Given the description of an element on the screen output the (x, y) to click on. 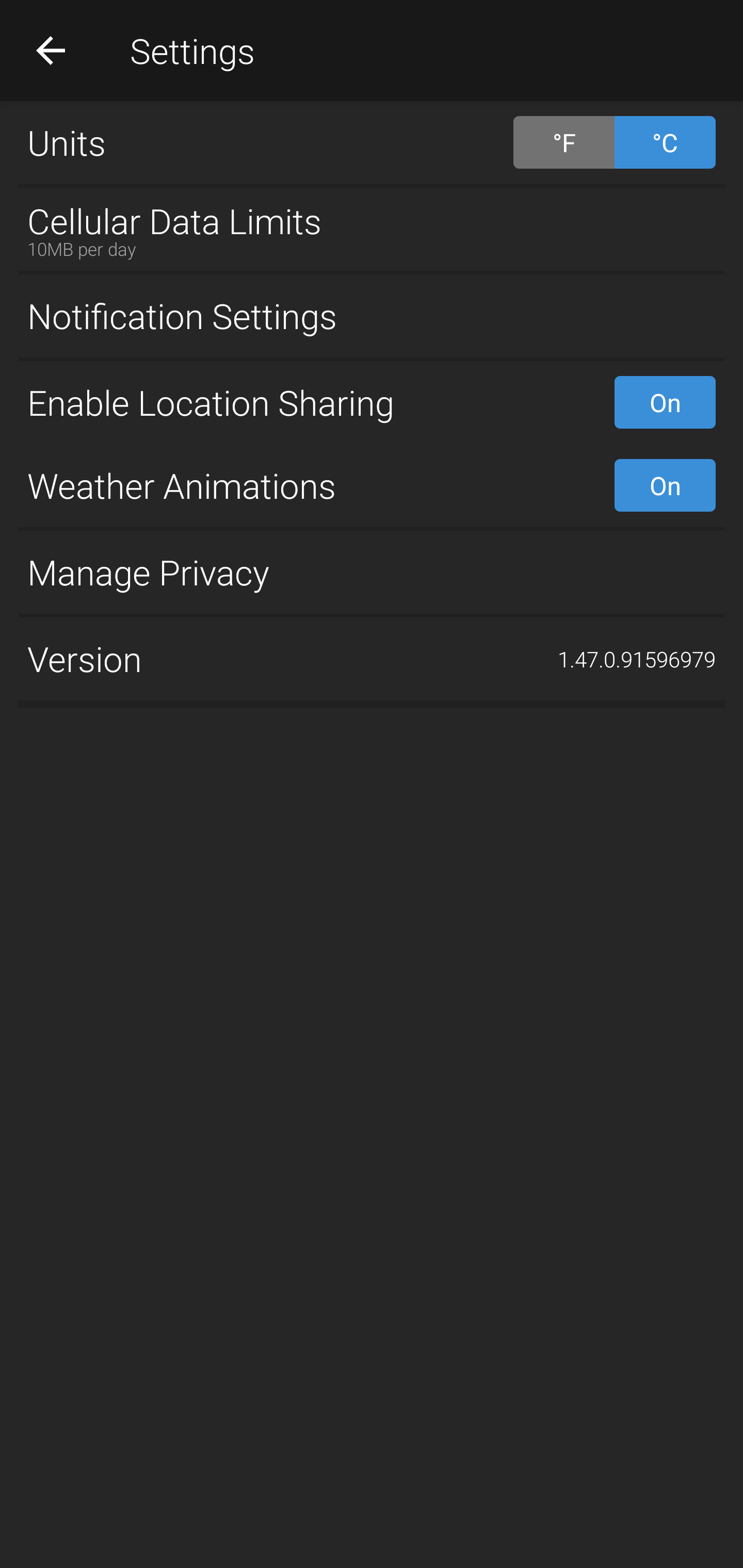
Navigate up (50, 50)
°F (563, 142)
°C (664, 142)
Cellular Data Limits 10MB per day (371, 229)
Notification Settings (371, 315)
Enable Location Sharing On (371, 401)
On (664, 402)
Weather Animations On (371, 484)
On (664, 485)
Manage Privacy (371, 571)
1.47.0.91596979 (636, 658)
